Given the description of an element on the screen output the (x, y) to click on. 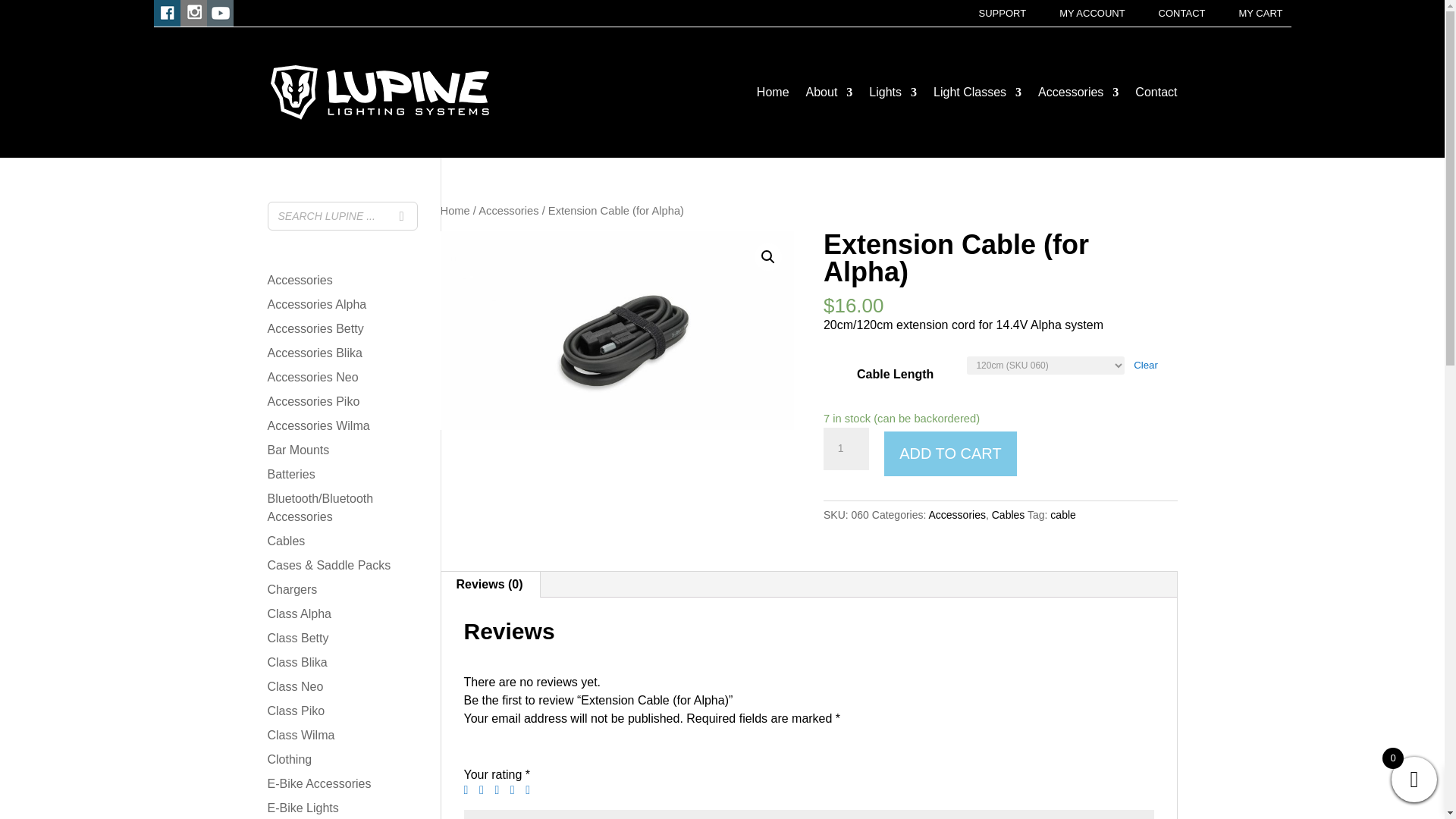
MY ACCOUNT (1091, 13)
SUPPORT (1003, 13)
MY CART (1260, 13)
CONTACT (1182, 13)
1 (846, 448)
Light Classes (977, 92)
